Given the description of an element on the screen output the (x, y) to click on. 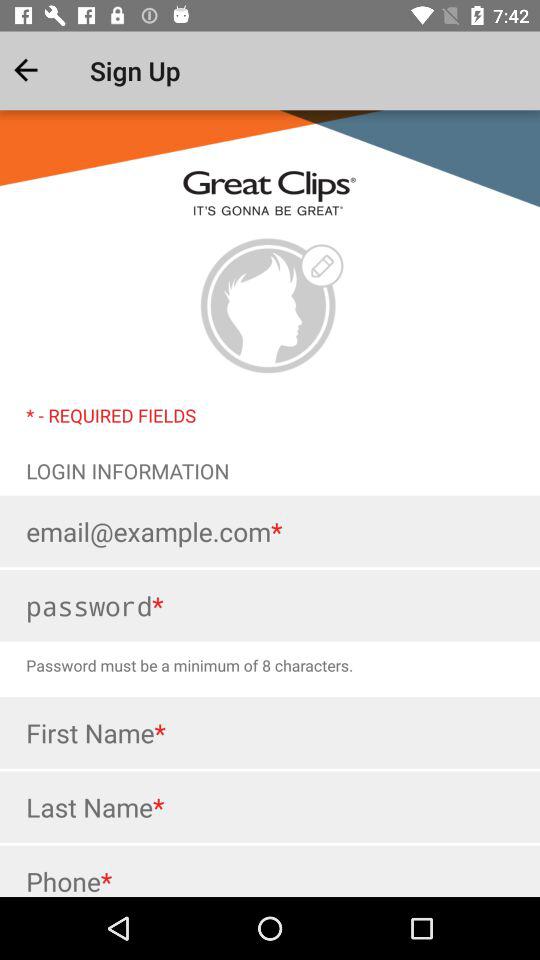
enter the phone (269, 871)
